Given the description of an element on the screen output the (x, y) to click on. 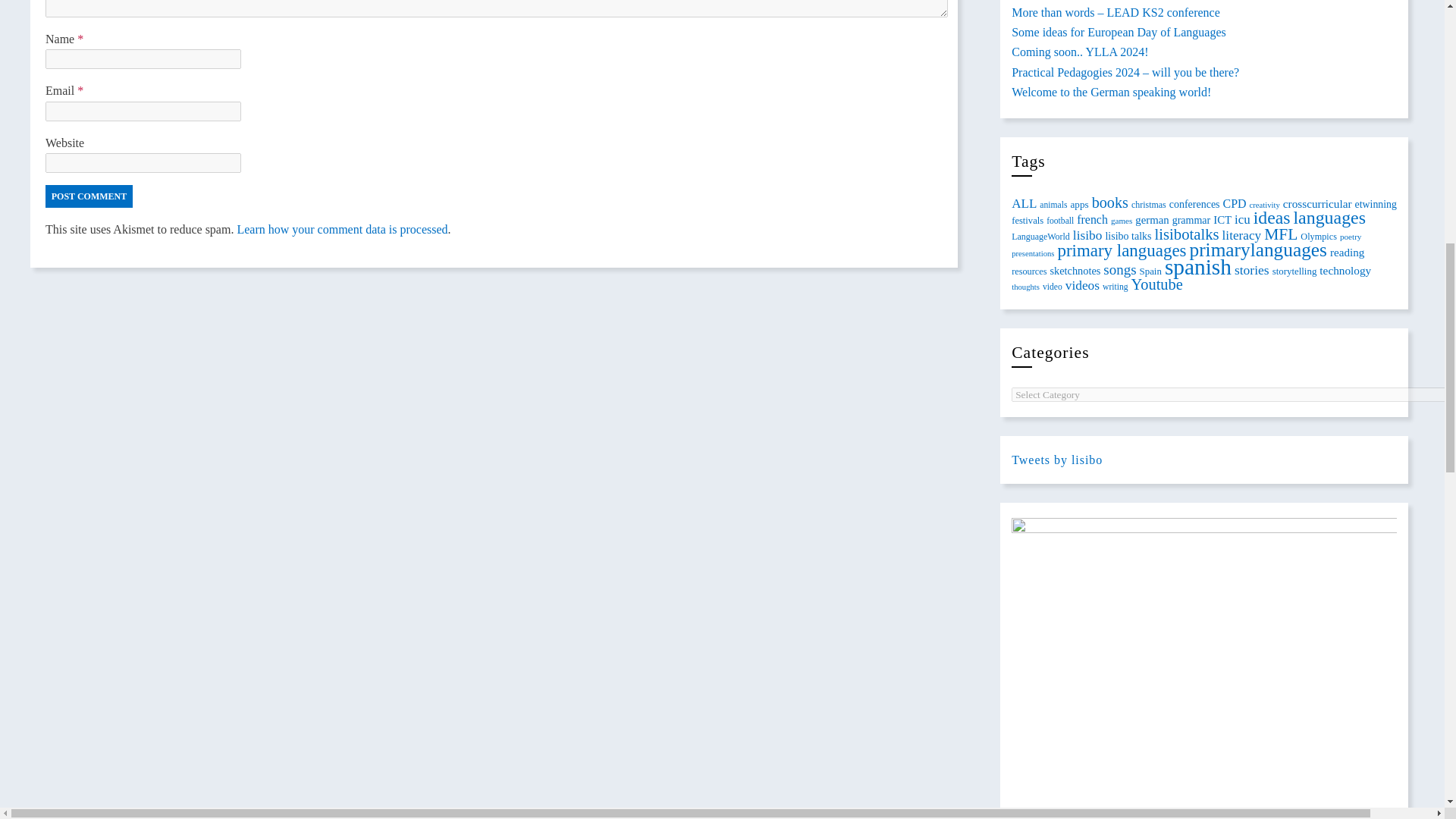
animals (1053, 204)
Welcome to the German speaking world! (1111, 91)
apps (1078, 204)
books (1110, 202)
Learn how your comment data is processed (340, 228)
ALL (1023, 202)
Coming soon.. YLLA 2024! (1079, 51)
Post Comment (88, 196)
Some ideas for European Day of Languages (1118, 31)
Post Comment (88, 196)
